Given the description of an element on the screen output the (x, y) to click on. 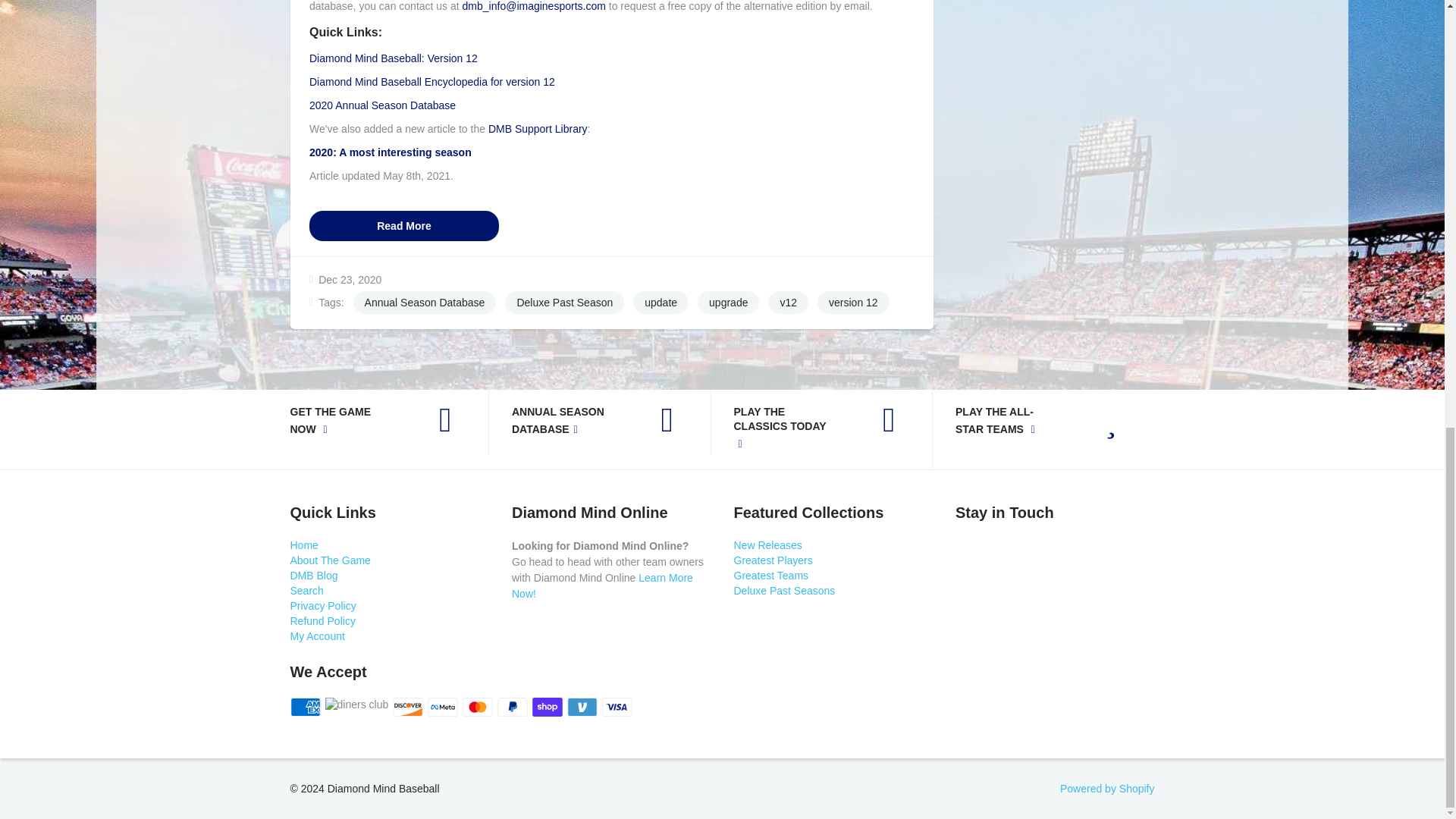
2020 Annual Season Database (381, 105)
Diamond Mind Baseball Encyclopedia: Version 12 (431, 81)
Diamond Mind Baseball: Version 12 (392, 58)
2020: A most interesting season (389, 152)
